Given the description of an element on the screen output the (x, y) to click on. 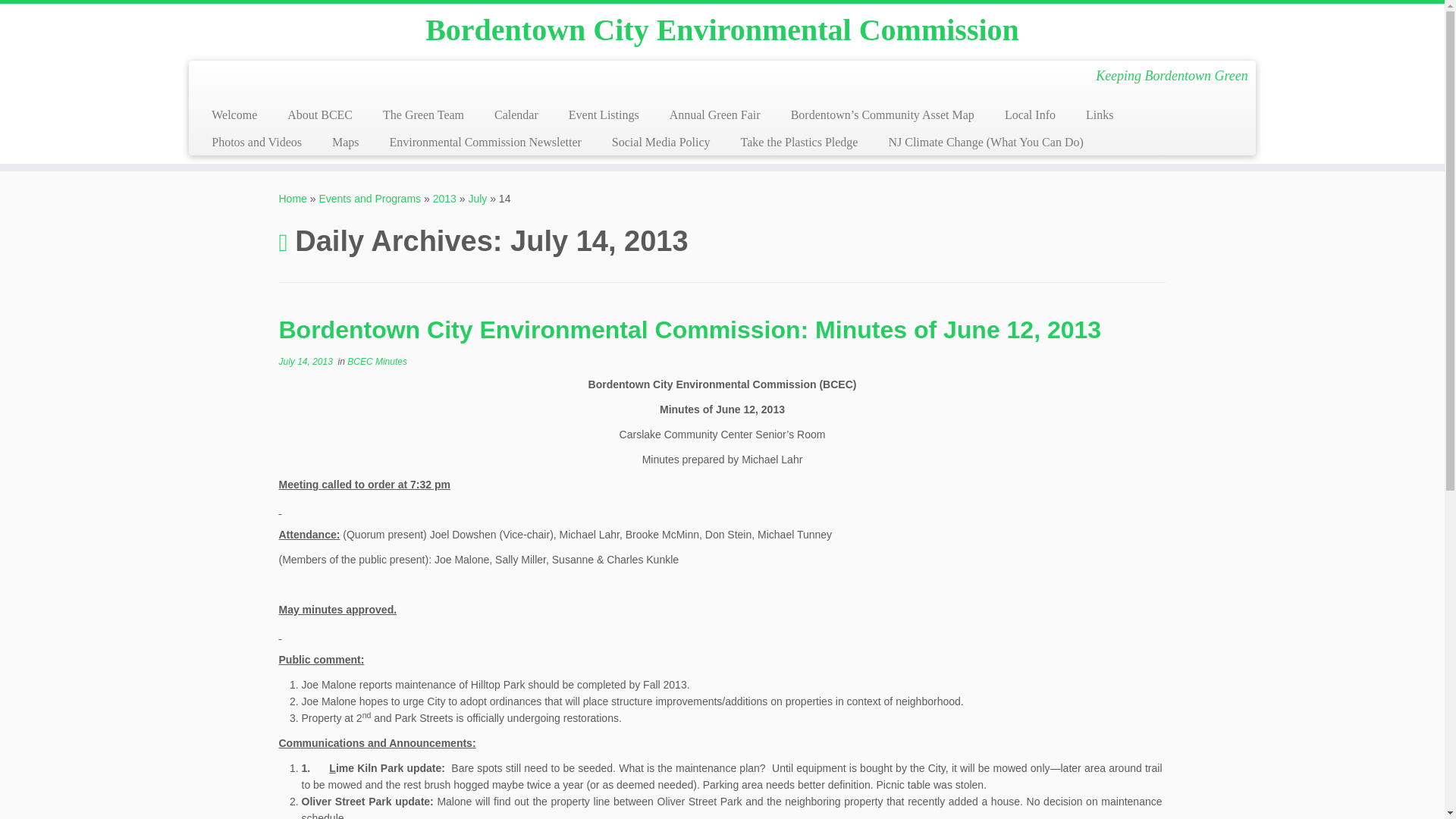
2013 (444, 198)
Bordentown City Environmental Commission (293, 198)
July (476, 198)
BCEC Minutes (377, 361)
July 14, 2013 (306, 361)
Maps (345, 142)
2013 (444, 198)
Welcome (234, 114)
Social Media Policy (660, 142)
Photos and Videos (256, 142)
Environmental Commission Newsletter (485, 142)
Links (1099, 114)
About BCEC (320, 114)
Events and Programs (369, 198)
Home (293, 198)
